Given the description of an element on the screen output the (x, y) to click on. 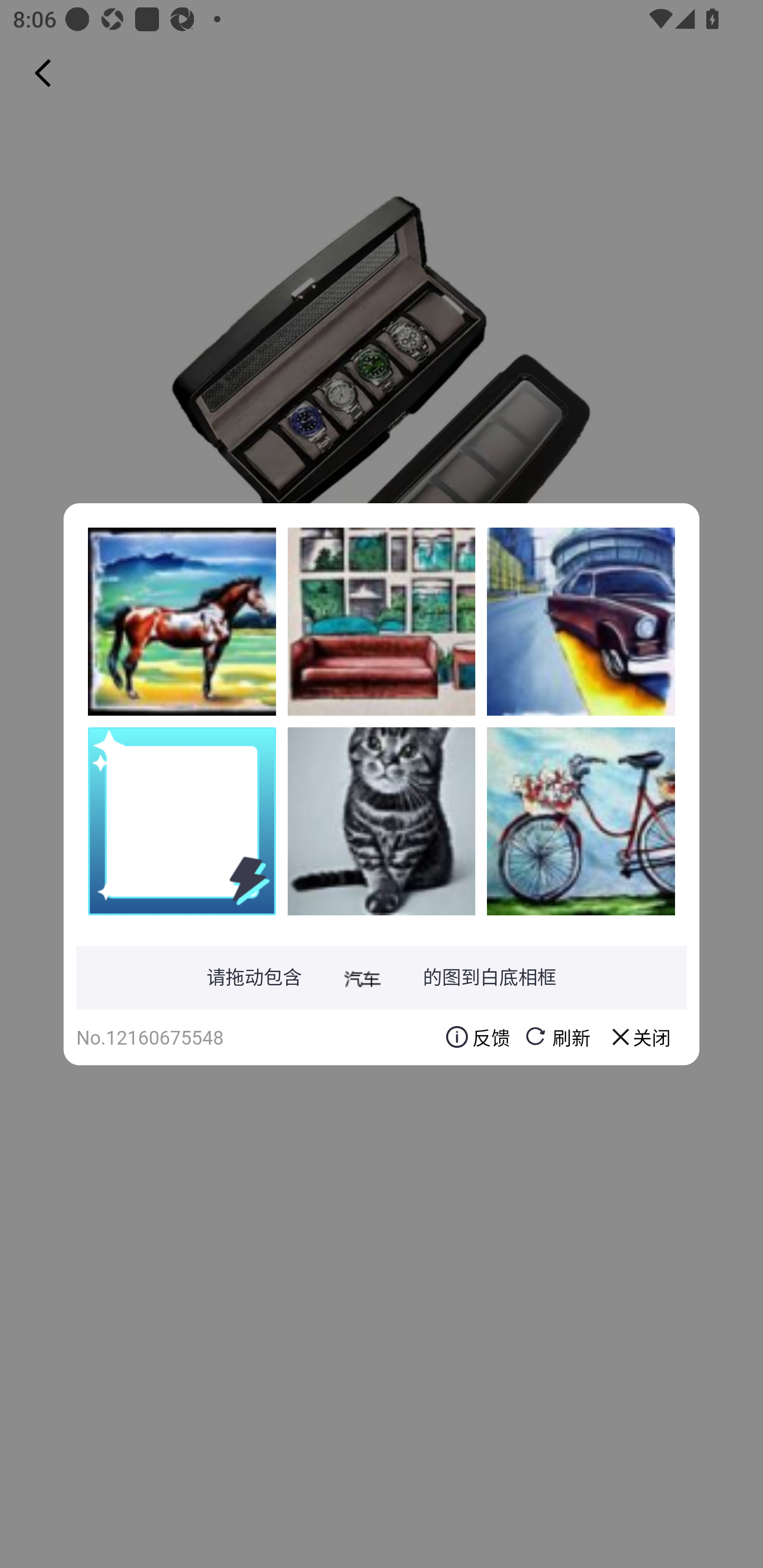
bbca4F8WncqSogrqMDKpSki (381, 621)
Oz (381, 820)
BPL1ZaFgwN3at58z8Wdxc+B7Wn39I7KE9BP18mK (580, 820)
